Given the description of an element on the screen output the (x, y) to click on. 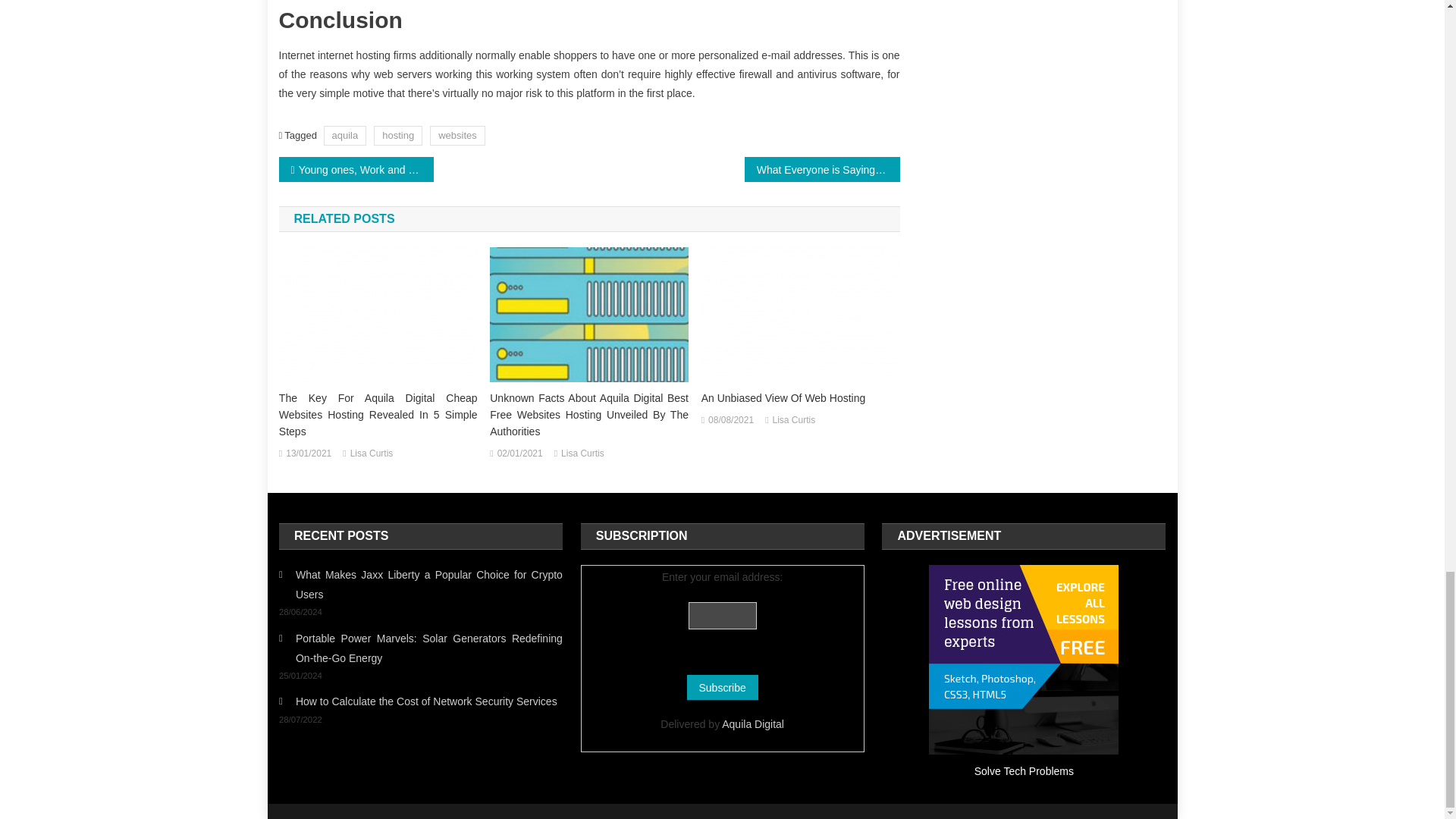
Lisa Curtis (371, 453)
websites (456, 135)
hosting (398, 135)
Lisa Curtis (794, 420)
Education Grants (1023, 659)
An Unbiased View of Web Hosting (800, 314)
